Given the description of an element on the screen output the (x, y) to click on. 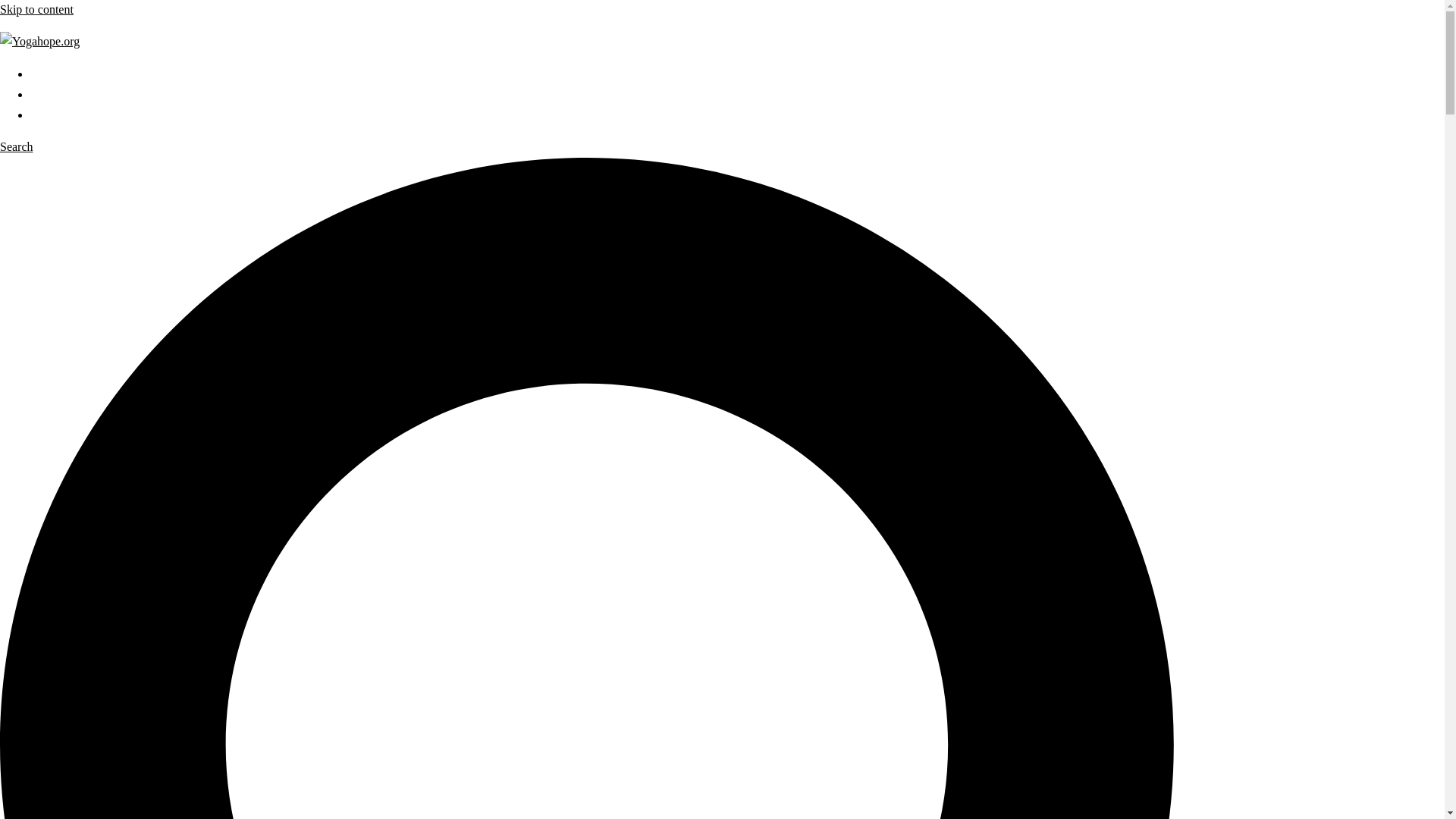
Lottery (47, 113)
Yogahope.org (40, 41)
YogaHope (55, 73)
Latest News (60, 93)
Skip to content (37, 9)
